Given the description of an element on the screen output the (x, y) to click on. 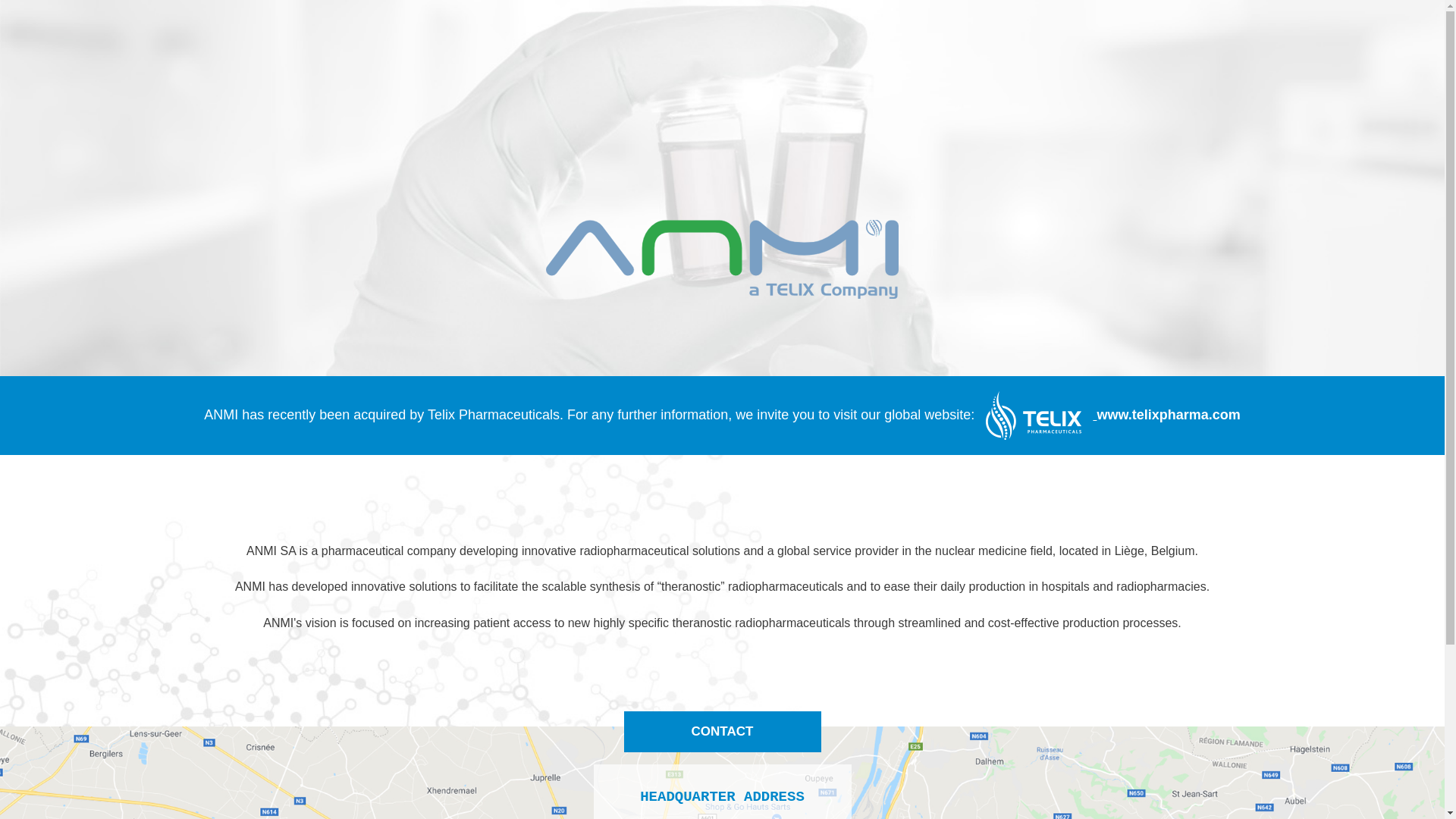
www.telixpharma.com Element type: text (1106, 415)
